Given the description of an element on the screen output the (x, y) to click on. 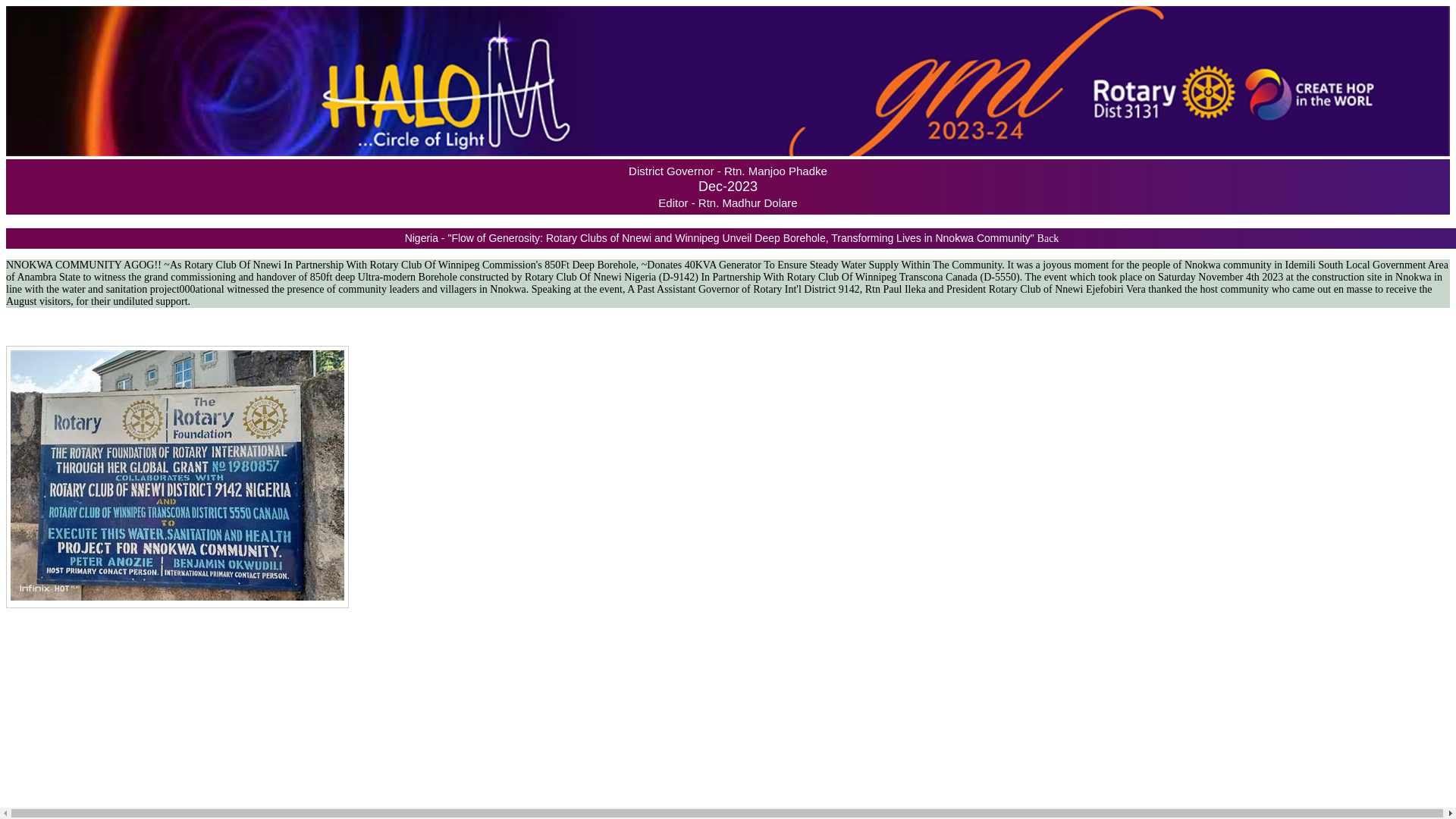
Back (1047, 238)
